Given the description of an element on the screen output the (x, y) to click on. 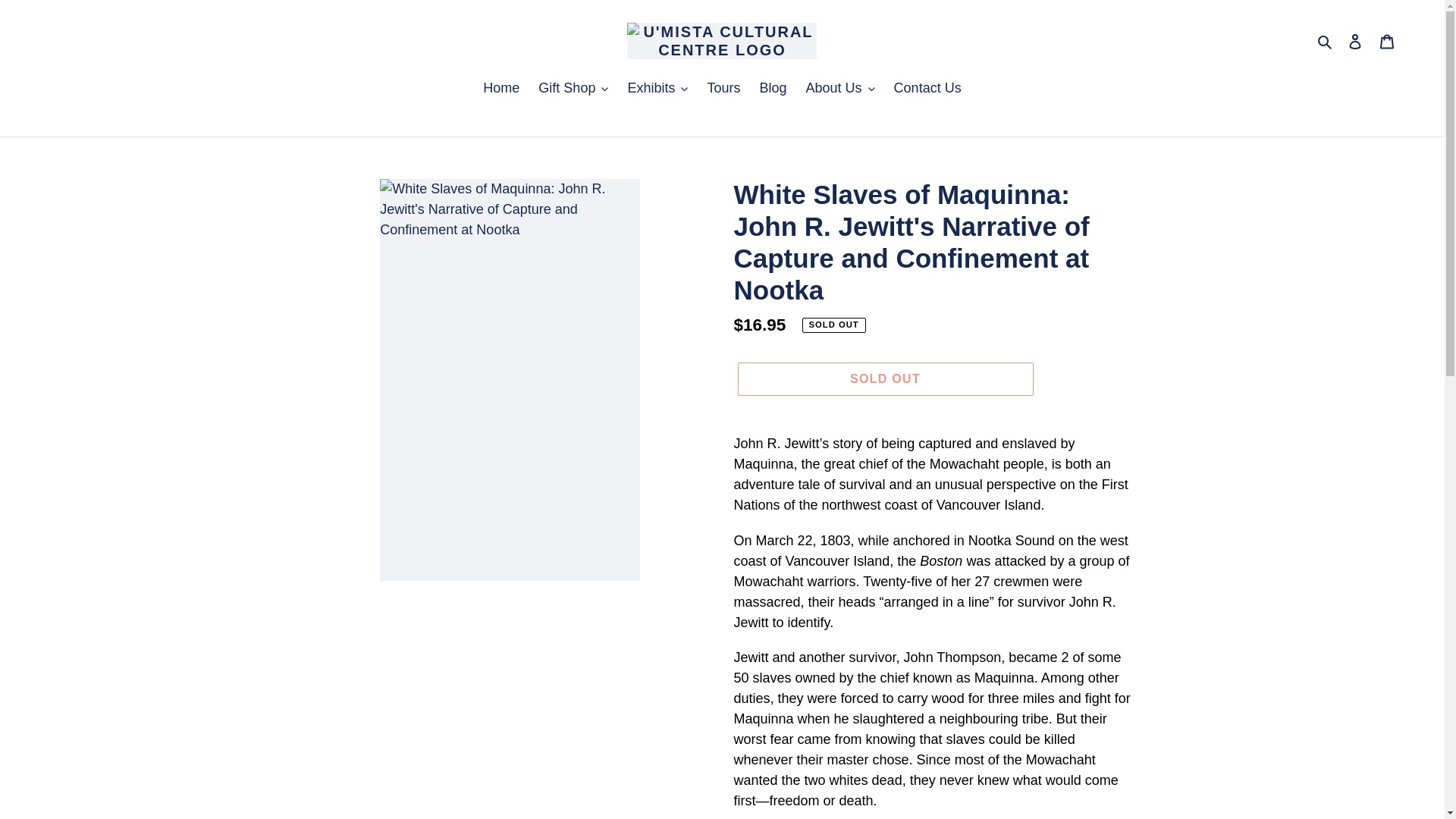
Search (1326, 41)
Log in (1355, 40)
Cart (1387, 40)
